Given the description of an element on the screen output the (x, y) to click on. 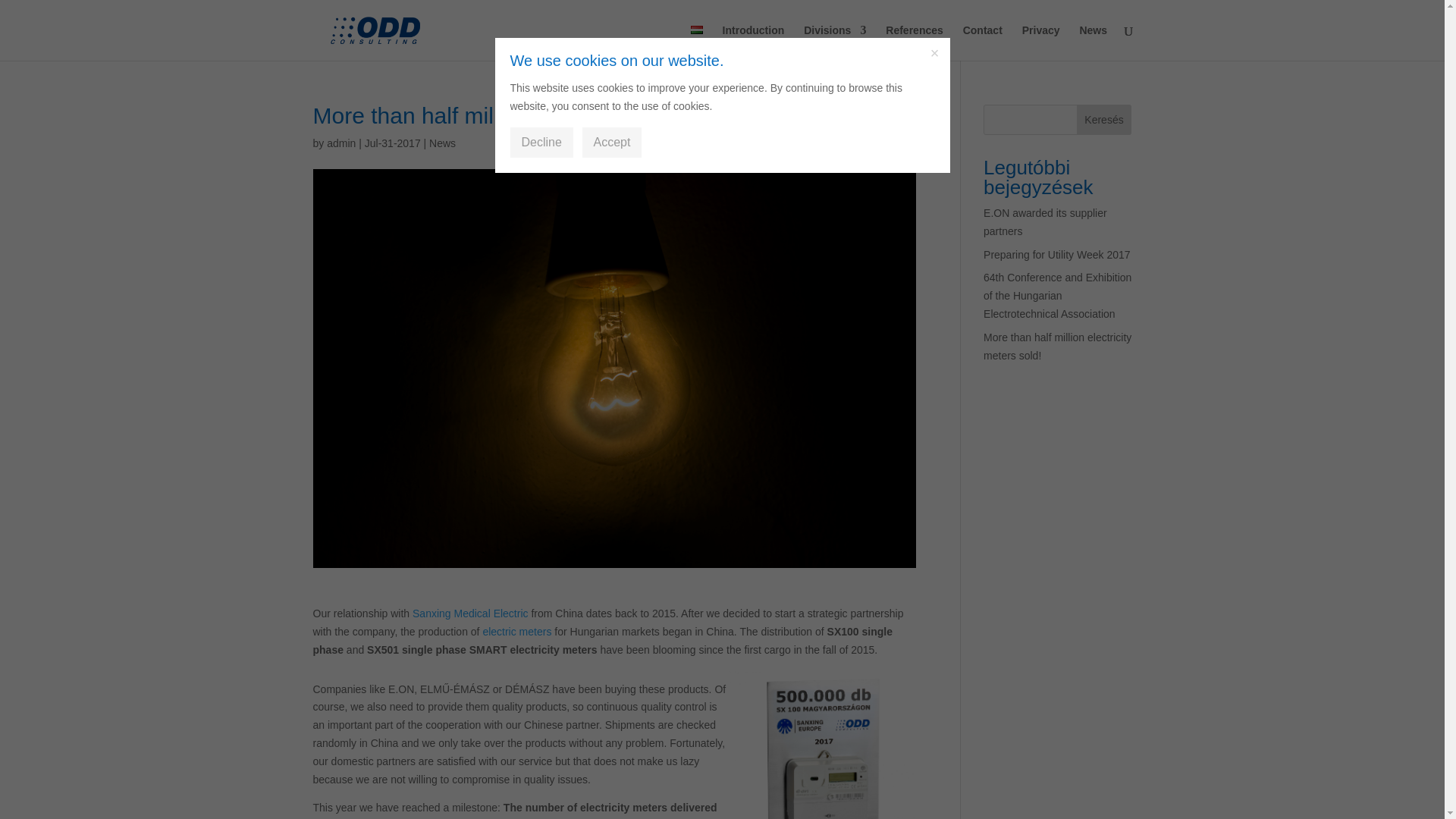
References (914, 42)
Privacy (1040, 42)
admin (340, 143)
News (442, 143)
E.ON awarded its supplier partners (1045, 222)
Introduction (753, 42)
Preparing for Utility Week 2017 (1057, 254)
Divisions (834, 42)
Contact (982, 42)
